Given the description of an element on the screen output the (x, y) to click on. 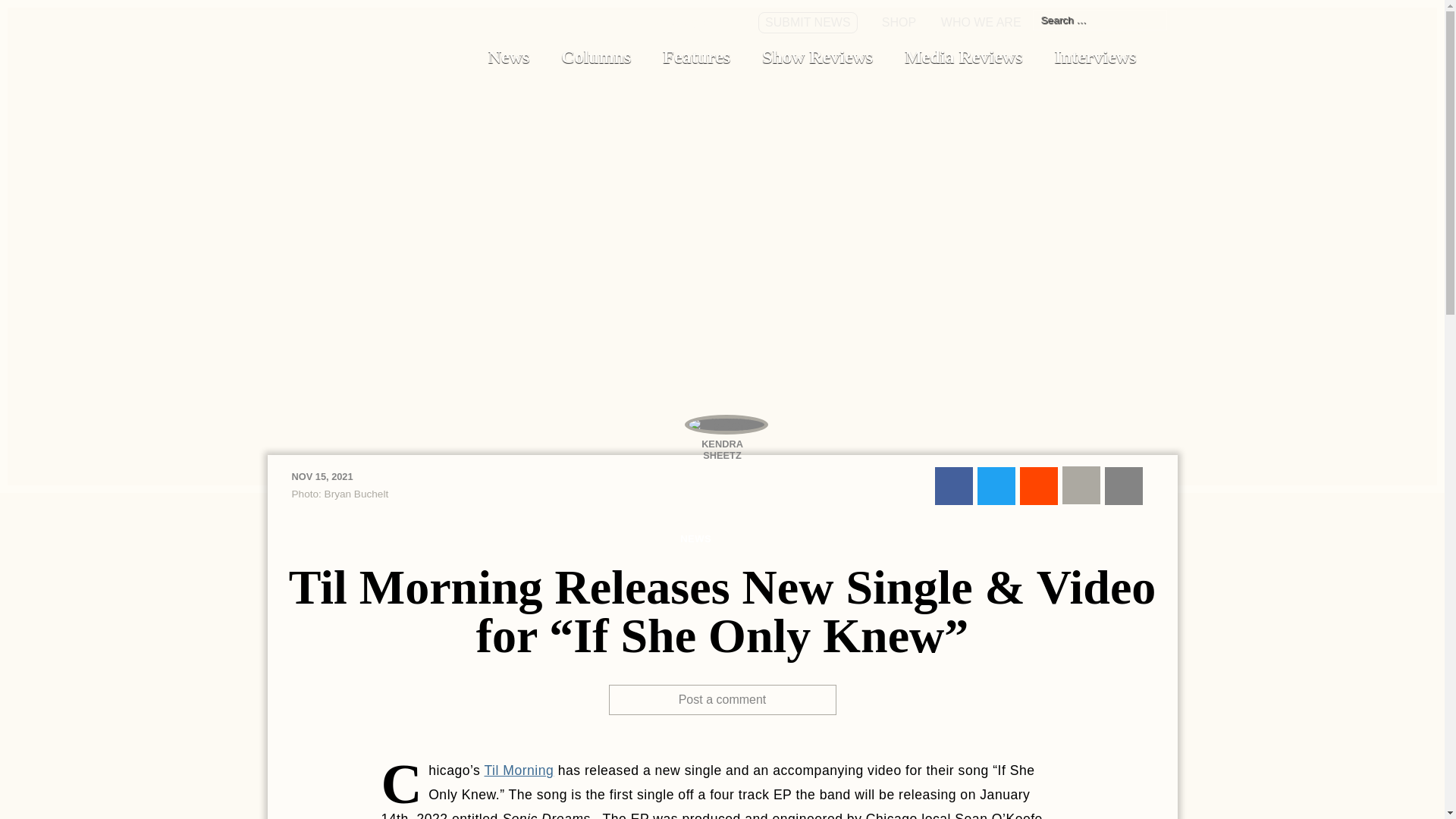
Columns (596, 56)
Search (1148, 19)
SUBMIT NEWS (807, 22)
Facebook (953, 485)
KENDRA SHEETZ (722, 442)
Show Reviews (817, 56)
News (508, 56)
Til Morning (518, 770)
Bad Copy (330, 59)
Email (1122, 485)
